Given the description of an element on the screen output the (x, y) to click on. 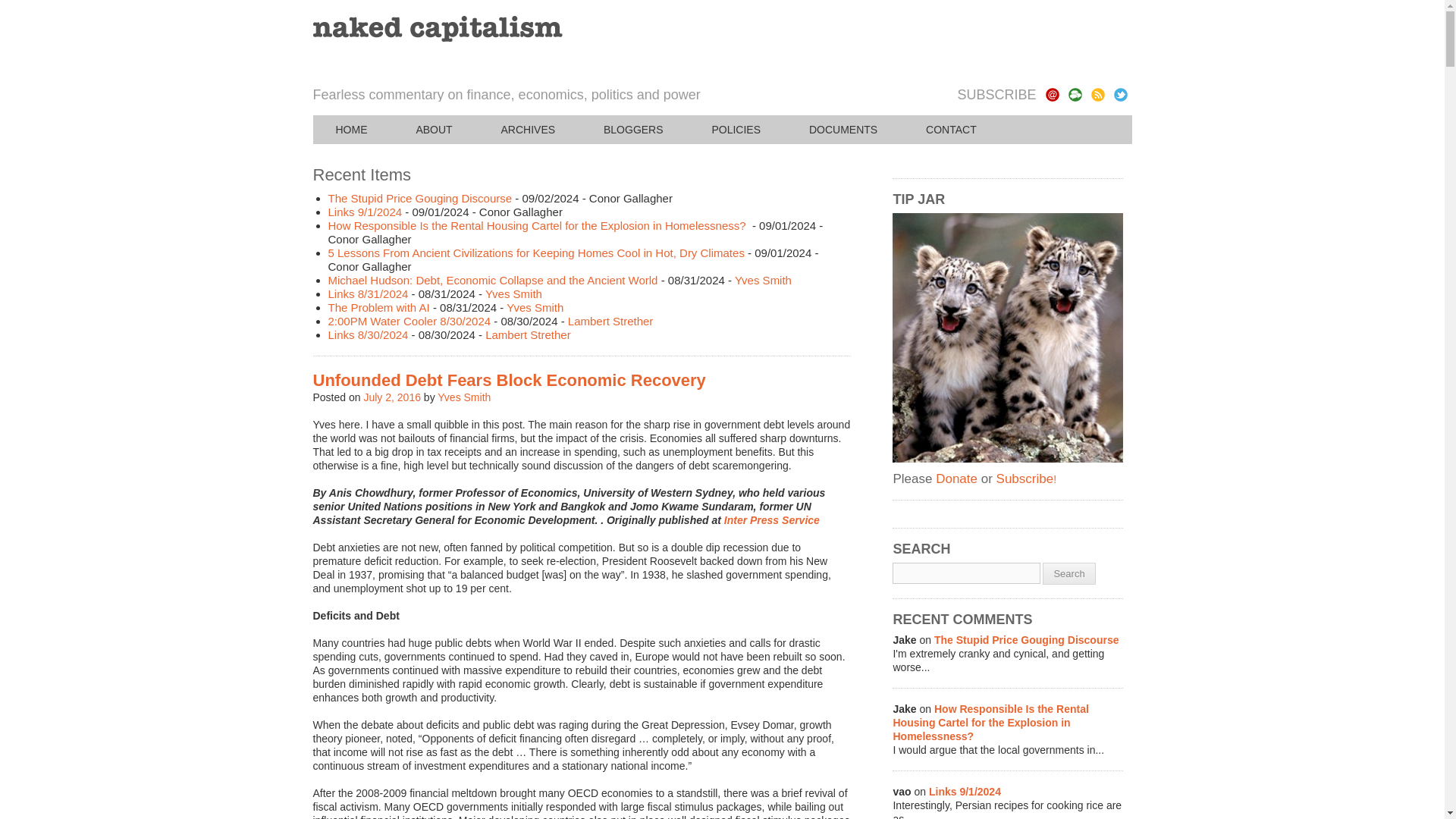
Subscribe to RSS Feed (1096, 94)
POLICIES (735, 129)
Subscribe to comments via RSS feed (1074, 94)
DOCUMENTS (842, 129)
Lambert Strether (527, 334)
BLOGGERS (632, 129)
Unfounded Debt Fears Block Economic Recovery (391, 397)
Subscribe to posts via Email (1051, 94)
Follow yvessmith on Twitter (1119, 94)
